Given the description of an element on the screen output the (x, y) to click on. 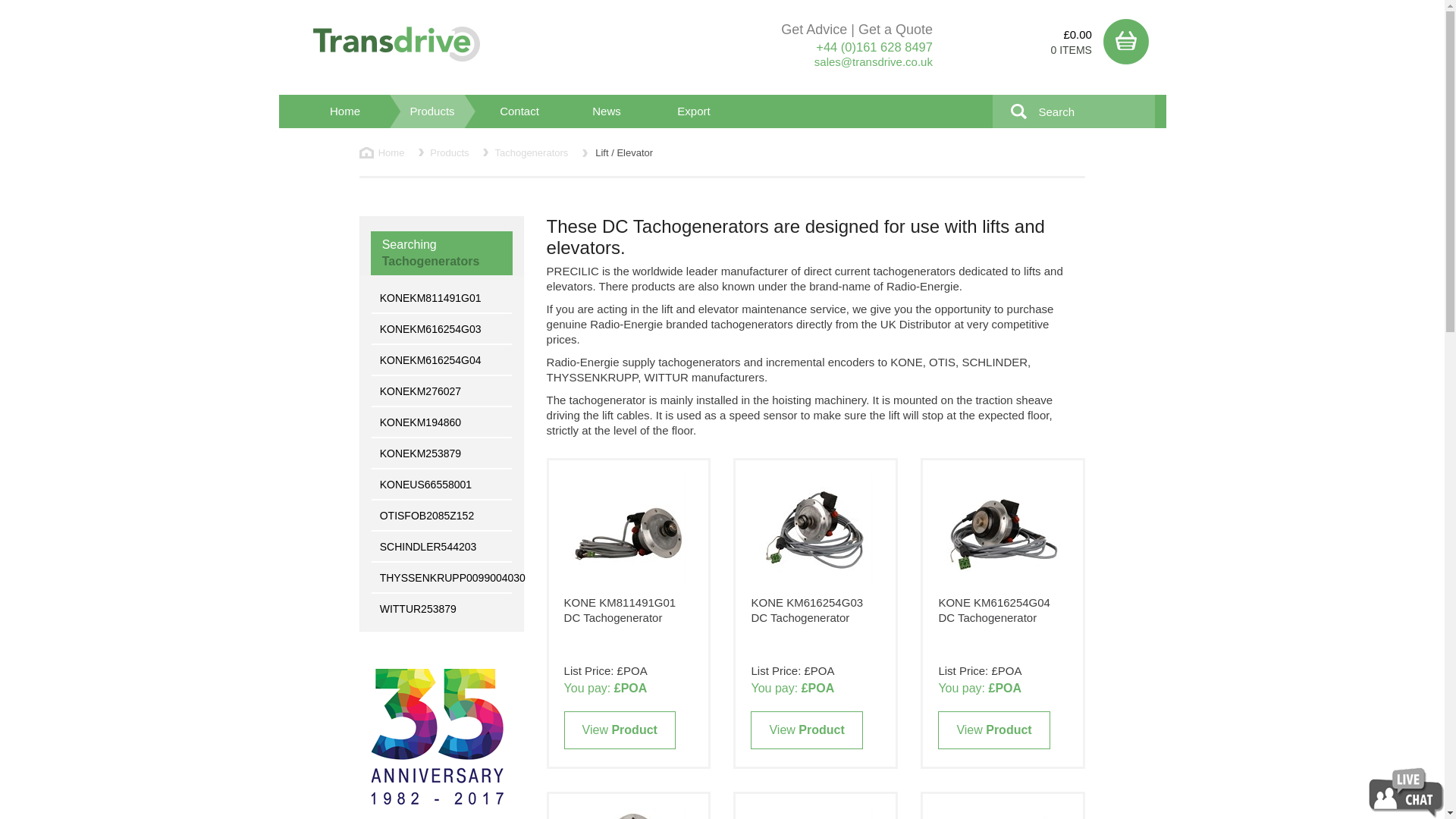
KONEKM811491G01 (443, 297)
KONEKM194860 (443, 421)
Products (448, 152)
View Product (619, 730)
Tachogenerators (531, 152)
Home (384, 152)
KONEKM276027 (443, 390)
KONEKM253879 (443, 452)
KONEKM616254G03 (443, 328)
View Product (806, 730)
Home (384, 152)
Home (344, 111)
Tachogenerators (531, 152)
View Product (993, 730)
Products (448, 152)
